Given the description of an element on the screen output the (x, y) to click on. 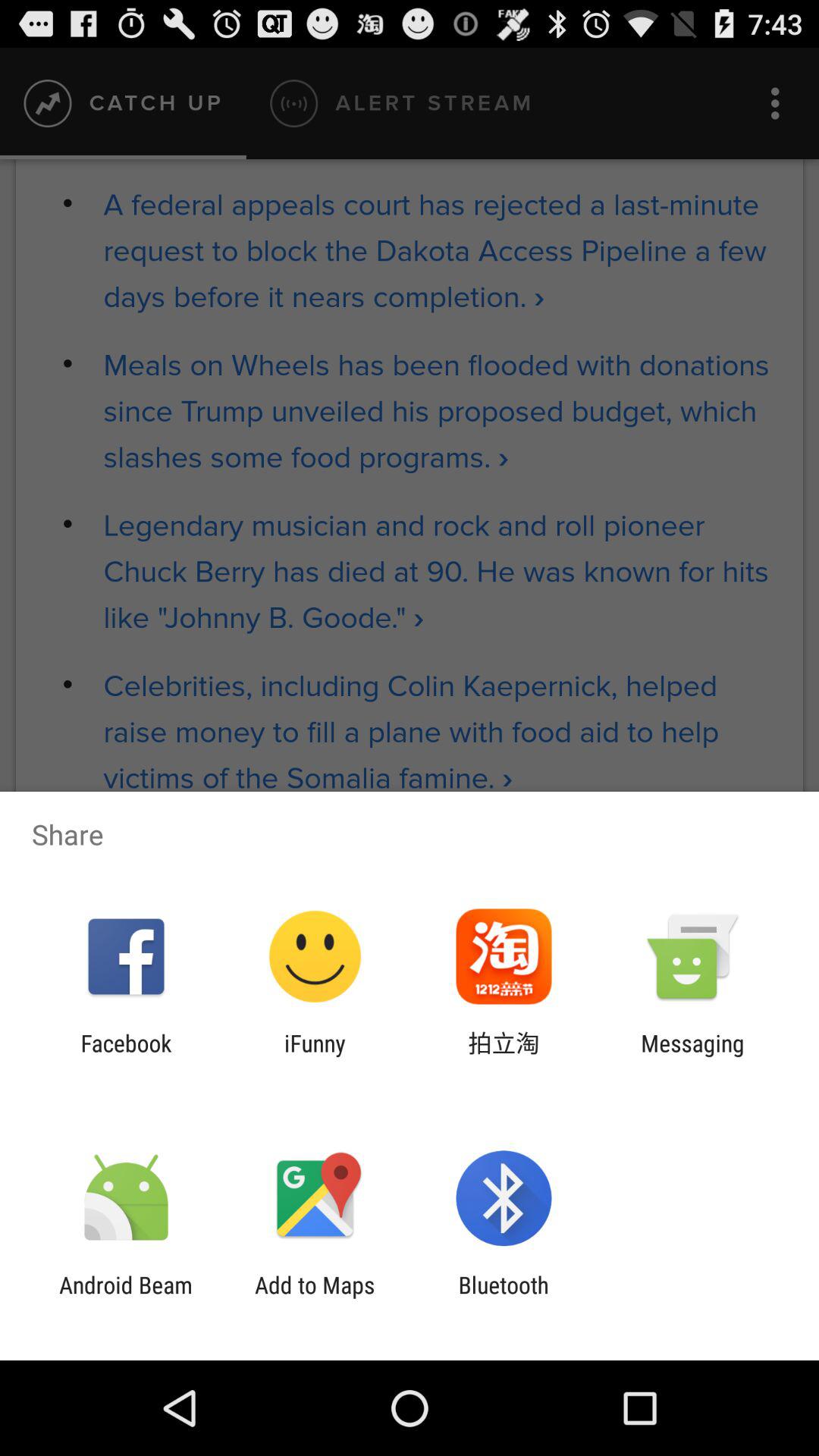
click item to the right of the facebook (314, 1056)
